Given the description of an element on the screen output the (x, y) to click on. 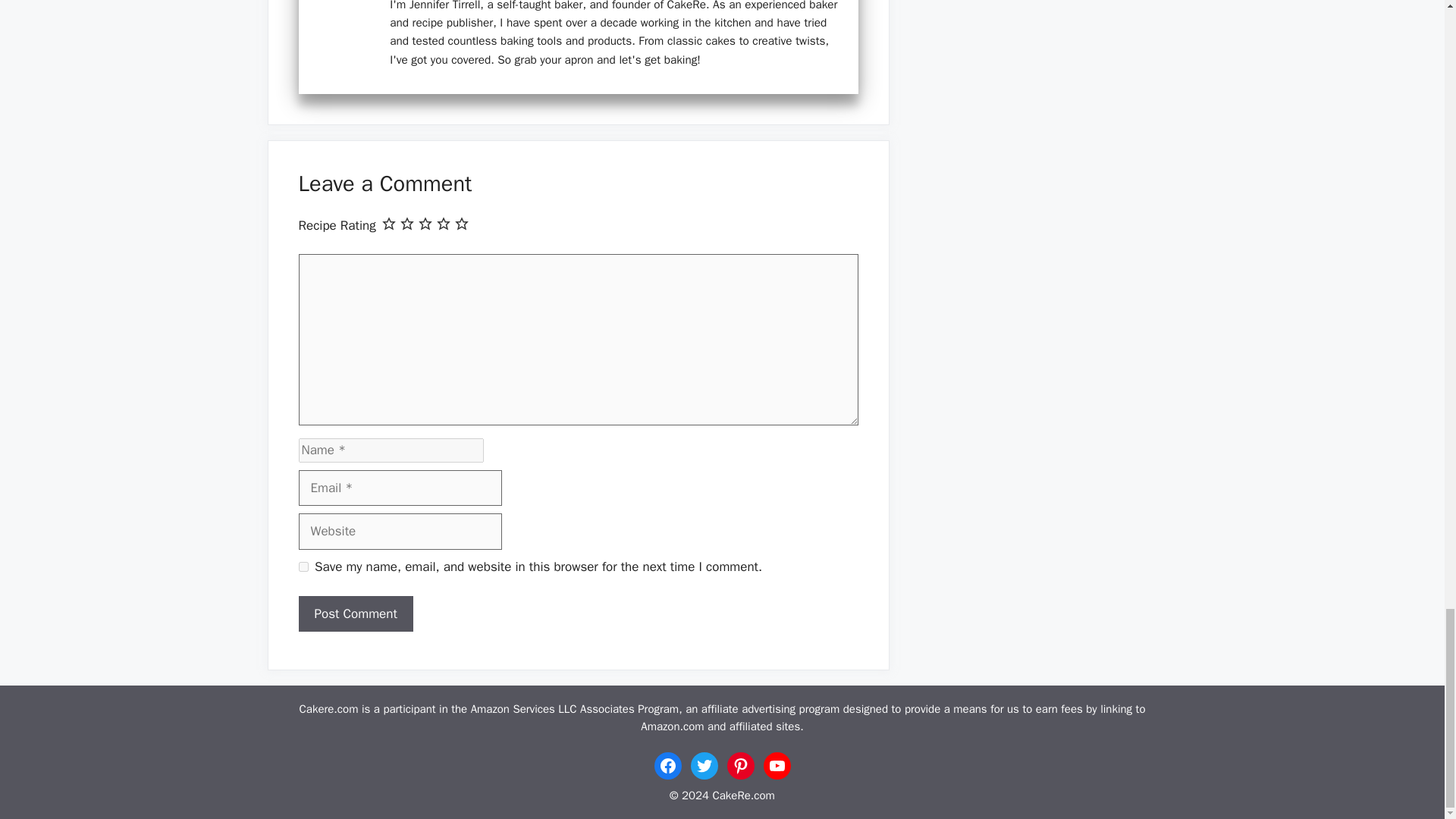
Post Comment (355, 614)
Twitter (703, 765)
YouTube (776, 765)
yes (303, 566)
Post Comment (355, 614)
Pinterest (740, 765)
Facebook (667, 765)
